Given the description of an element on the screen output the (x, y) to click on. 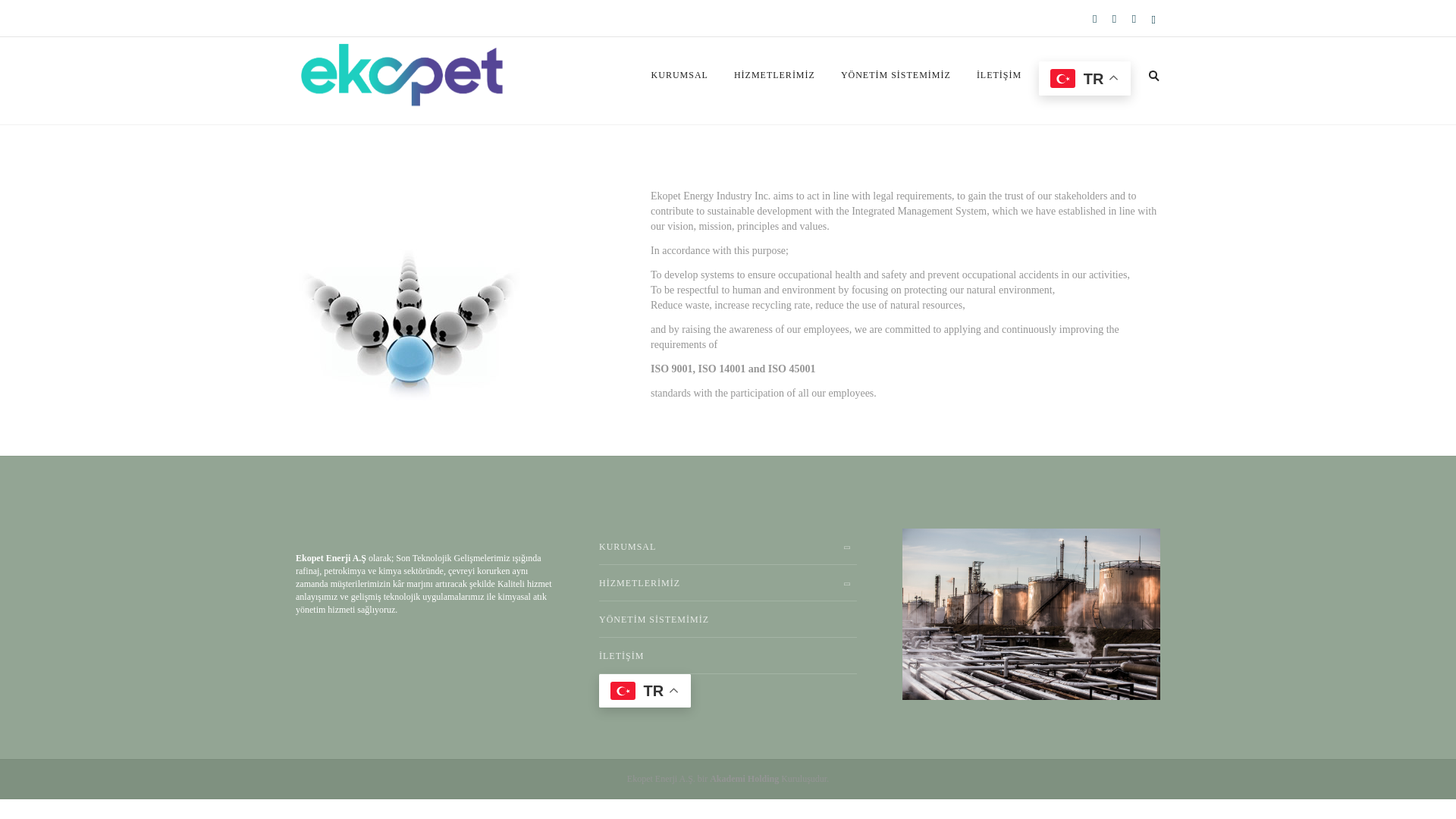
kalite (408, 327)
